Given the description of an element on the screen output the (x, y) to click on. 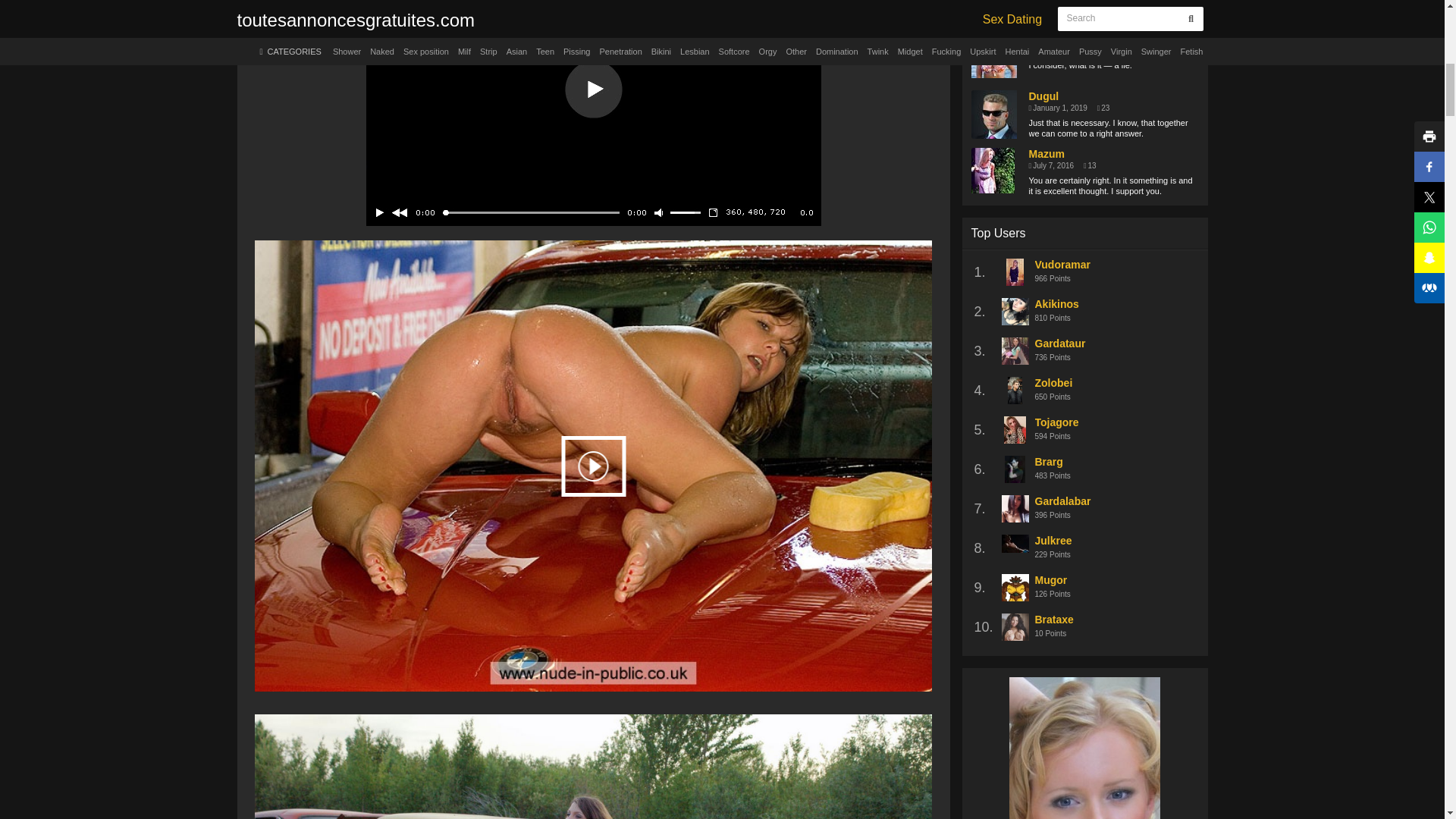
Girl takes sperm bath (592, 760)
